Given the description of an element on the screen output the (x, y) to click on. 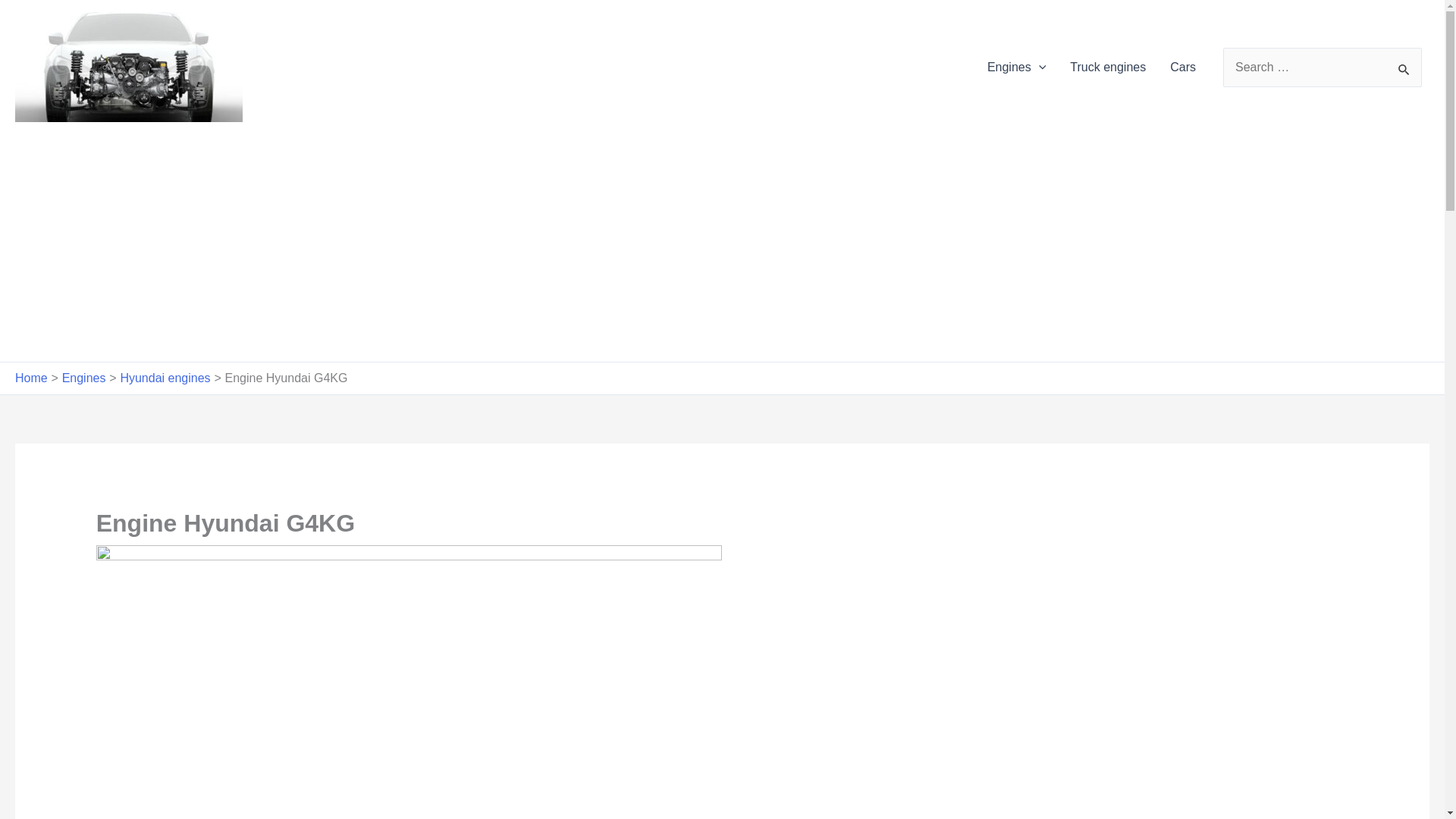
Engines (1016, 66)
